Given the description of an element on the screen output the (x, y) to click on. 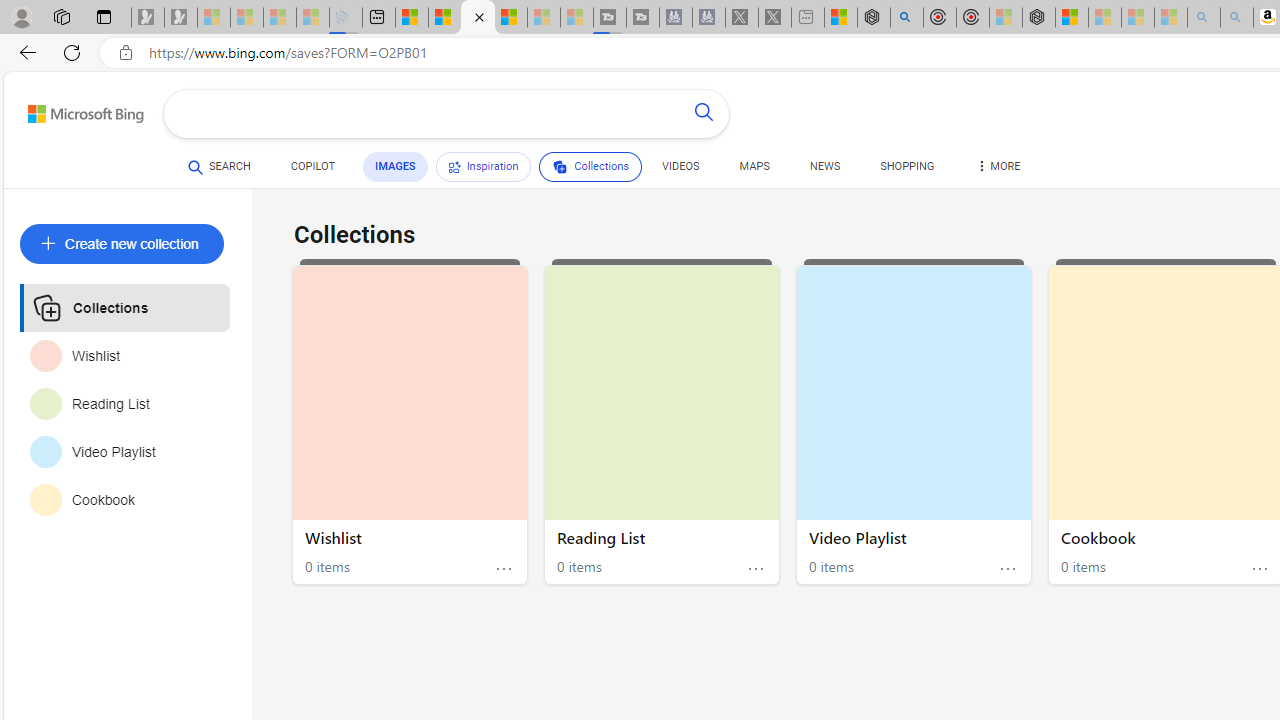
InspirationCollections (538, 169)
NEWS (824, 169)
Create new collection (122, 243)
Newsletter Sign Up - Sleeping (181, 17)
VIDEOS (679, 169)
Back to Bing search (73, 110)
SEARCH (219, 167)
